Given the description of an element on the screen output the (x, y) to click on. 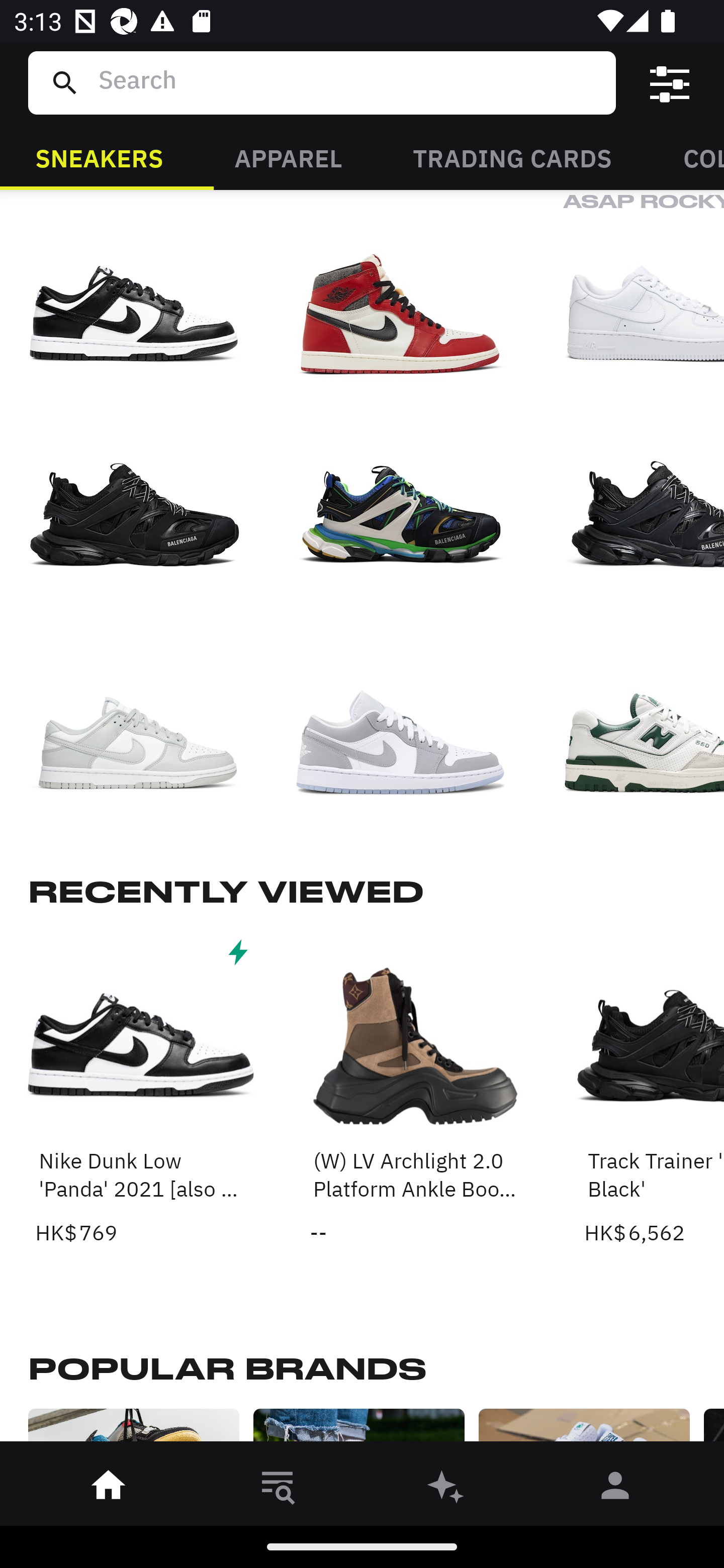
Search (349, 82)
 (669, 82)
SNEAKERS (99, 156)
APPAREL (287, 156)
TRADING CARDS (512, 156)
ASAP ROCKY (643, 292)
Track Trainer 'Triple Black' HK$ 6,562 (654, 1090)
󰋜 (108, 1488)
󱎸 (277, 1488)
󰫢 (446, 1488)
󰀄 (615, 1488)
